Given the description of an element on the screen output the (x, y) to click on. 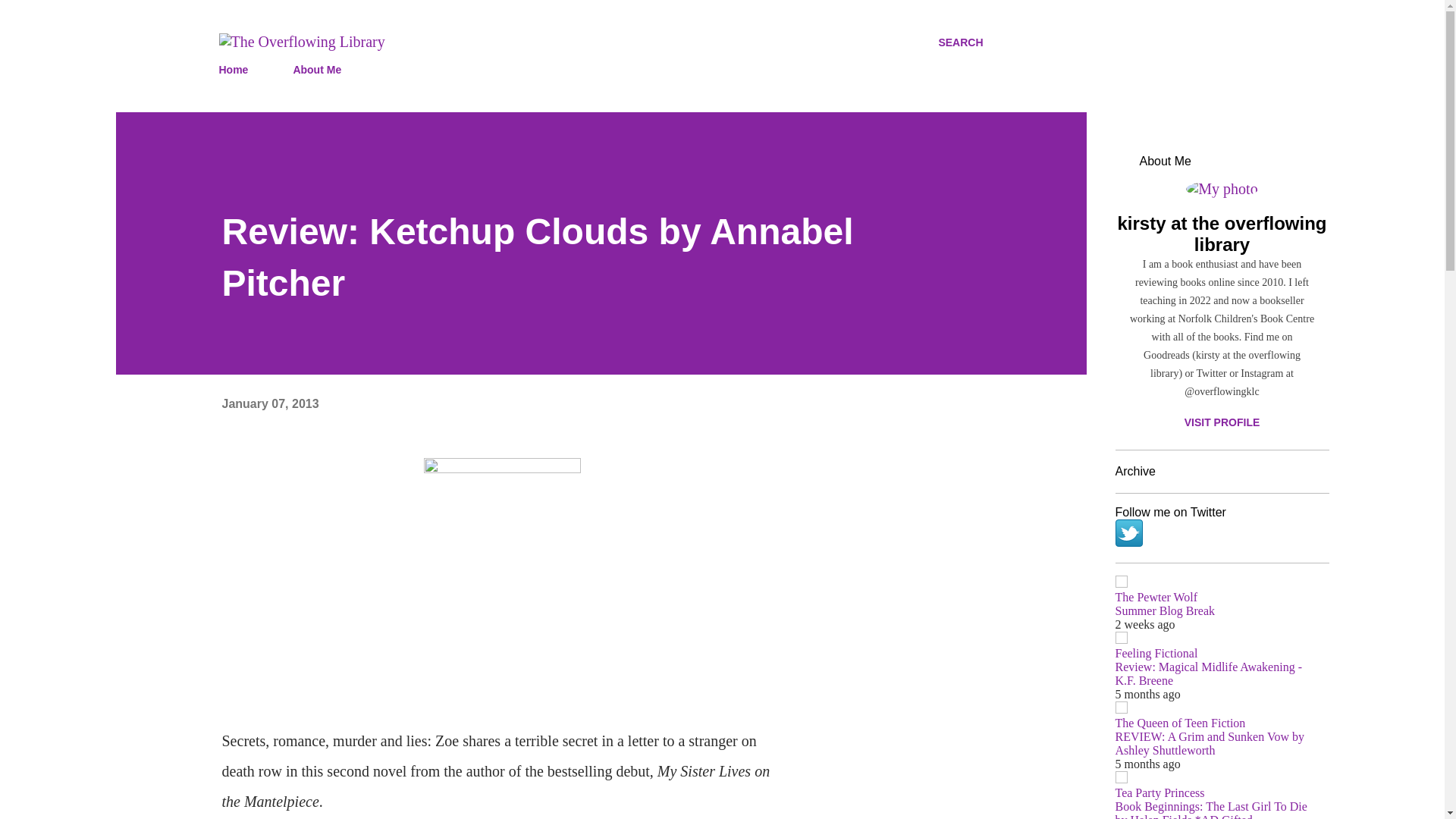
Home (237, 69)
VISIT PROFILE (1221, 422)
January 07, 2013 (269, 403)
About Me (316, 69)
SEARCH (959, 42)
permanent link (269, 403)
kirsty at the overflowing library (1221, 233)
